Given the description of an element on the screen output the (x, y) to click on. 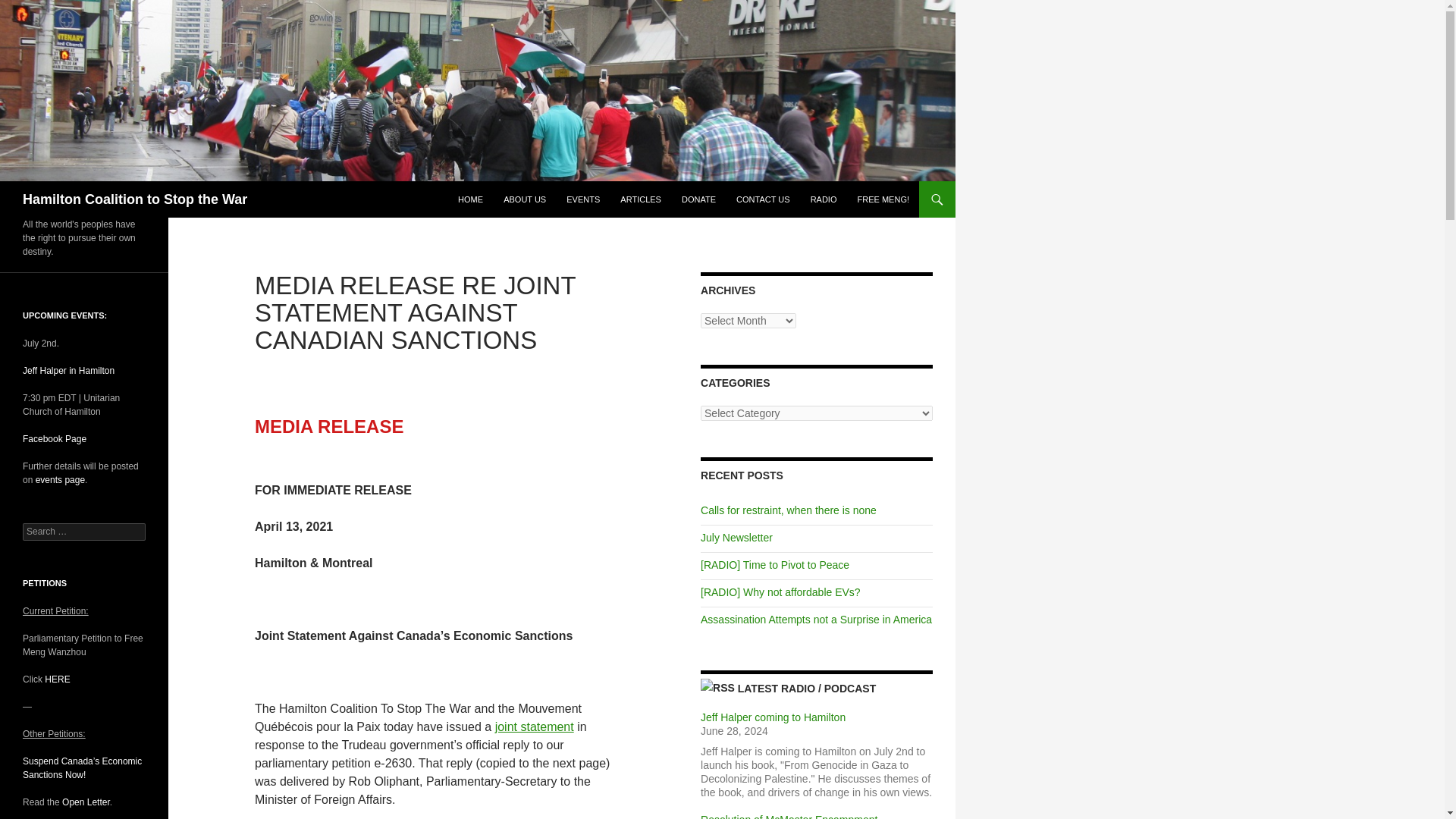
ARTICLES (640, 198)
Facebook Page (54, 439)
ABOUT US (524, 198)
joint statement (534, 726)
Jeff Halper coming to Hamilton (772, 717)
Calls for restraint, when there is none (788, 510)
Search (30, 8)
Jeff Halper in Hamilton (69, 370)
CONTACT US (762, 198)
